Given the description of an element on the screen output the (x, y) to click on. 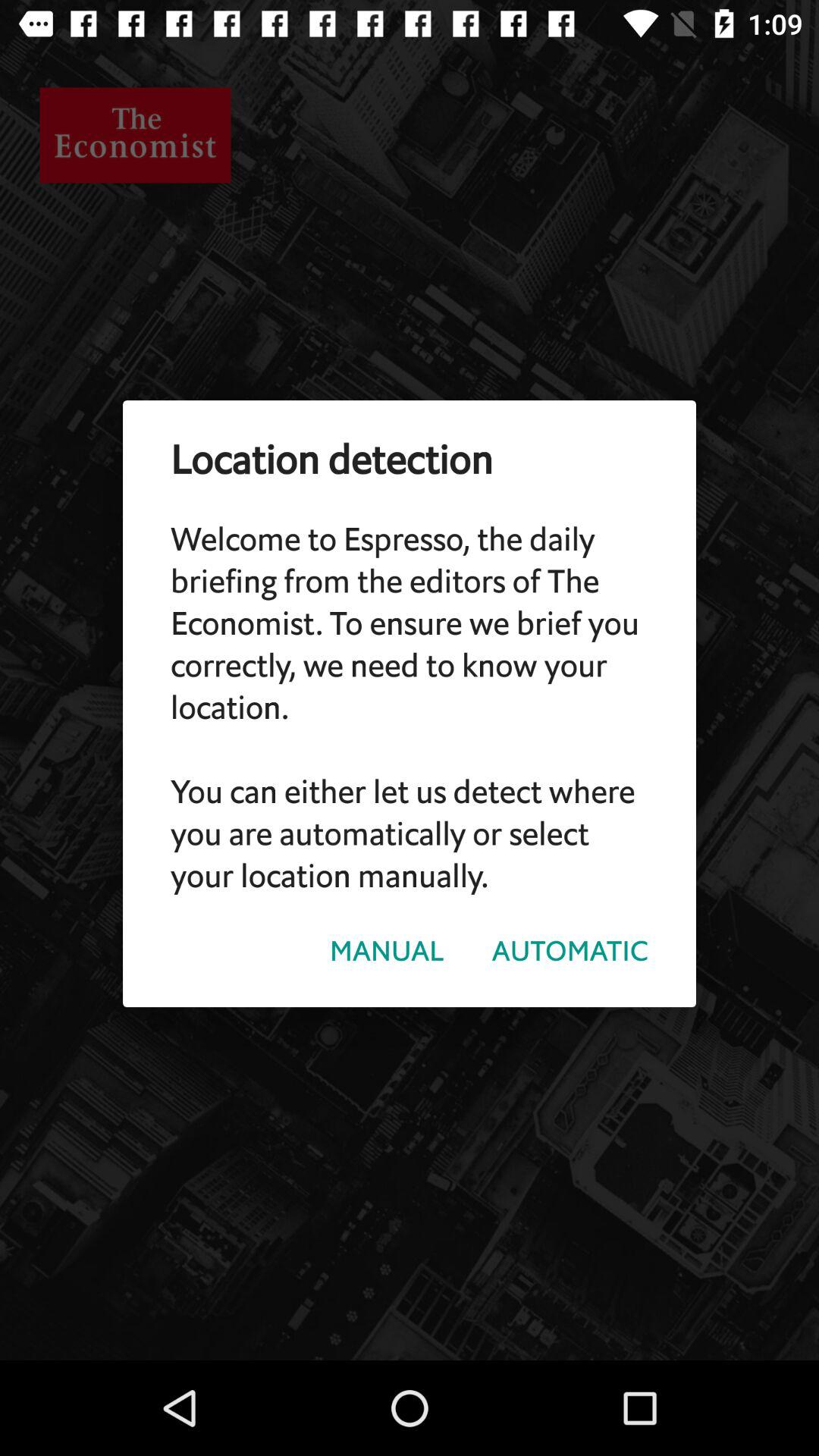
tap the item below welcome to espresso (386, 951)
